Given the description of an element on the screen output the (x, y) to click on. 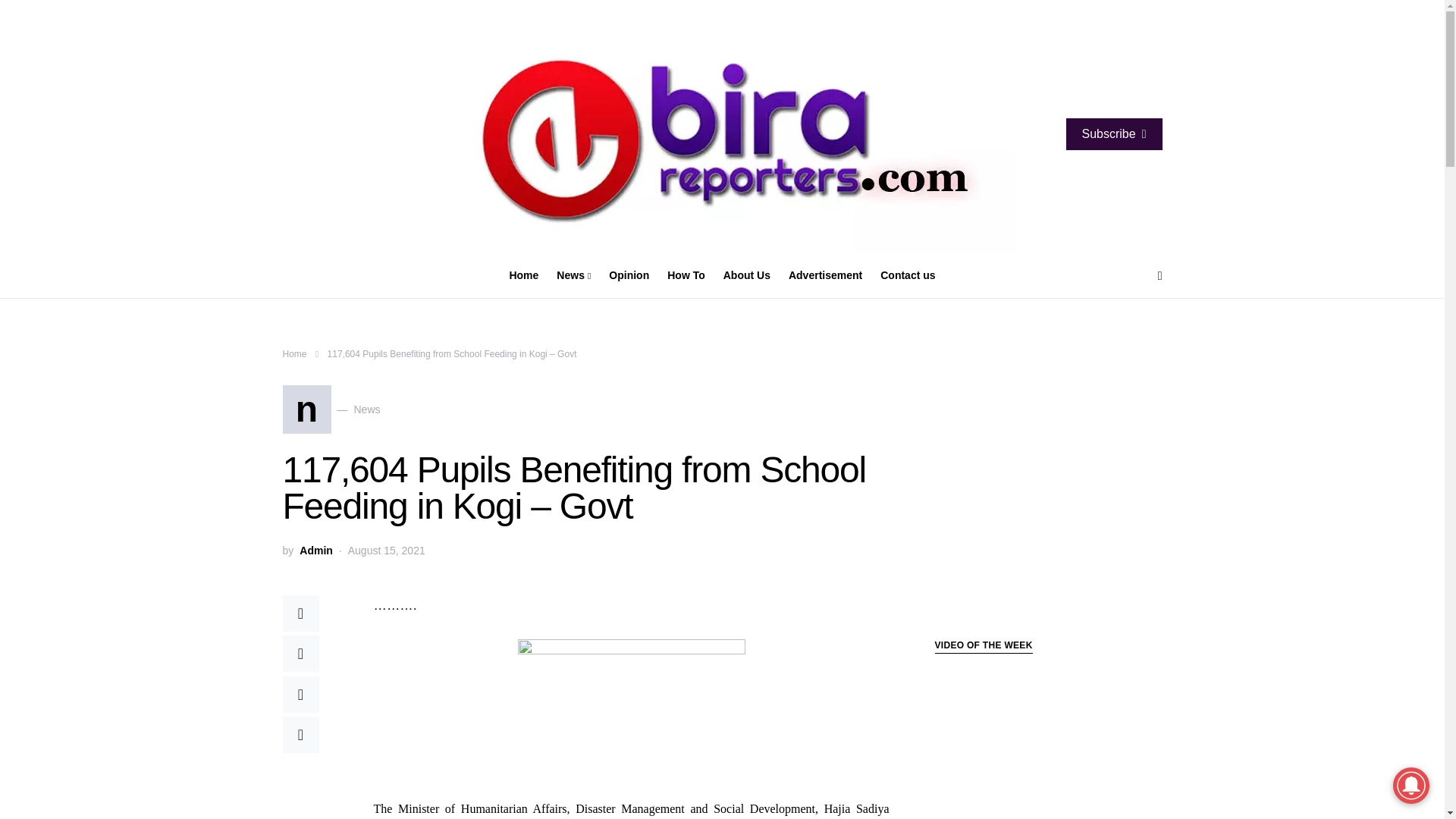
Subscribe (1113, 133)
View all posts by Admin (316, 550)
Admin (316, 550)
Opinion (628, 275)
Home (293, 353)
Advertisement (824, 275)
About Us (746, 275)
How To (686, 275)
News (331, 409)
Contact us (573, 275)
